Given the description of an element on the screen output the (x, y) to click on. 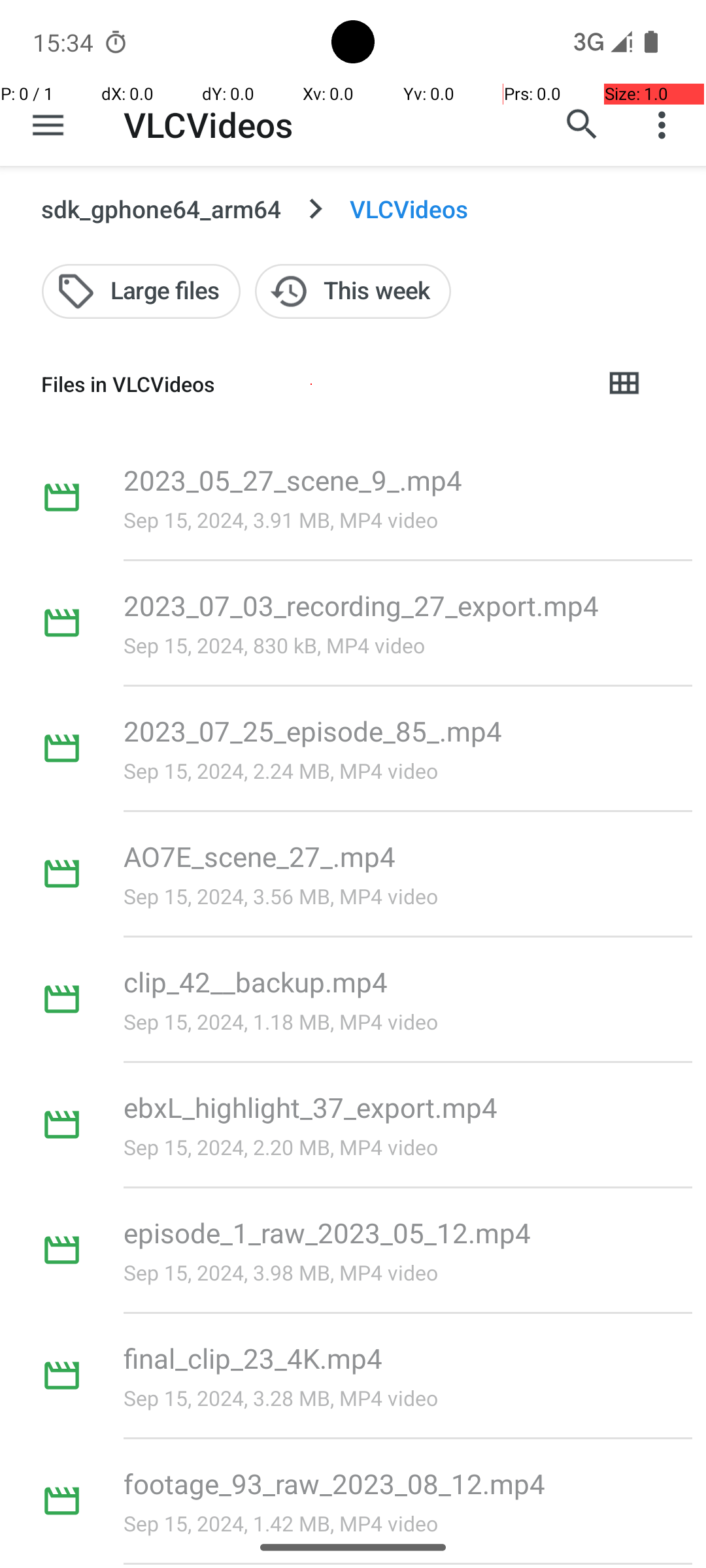
Files in VLCVideos Element type: android.widget.TextView (311, 383)
2023_05_27_scene_9_.mp4 Element type: android.widget.TextView (292, 479)
Sep 15, 2024, 3.91 MB, MP4 video Element type: android.widget.TextView (280, 519)
2023_07_03_recording_27_export.mp4 Element type: android.widget.TextView (361, 604)
Sep 15, 2024, 830 kB, MP4 video Element type: android.widget.TextView (273, 645)
2023_07_25_episode_85_.mp4 Element type: android.widget.TextView (312, 730)
Sep 15, 2024, 2.24 MB, MP4 video Element type: android.widget.TextView (280, 770)
AO7E_scene_27_.mp4 Element type: android.widget.TextView (259, 855)
Sep 15, 2024, 3.56 MB, MP4 video Element type: android.widget.TextView (280, 896)
clip_42__backup.mp4 Element type: android.widget.TextView (255, 981)
Sep 15, 2024, 1.18 MB, MP4 video Element type: android.widget.TextView (280, 1021)
ebxL_highlight_37_export.mp4 Element type: android.widget.TextView (310, 1106)
Sep 15, 2024, 2.20 MB, MP4 video Element type: android.widget.TextView (280, 1146)
episode_1_raw_2023_05_12.mp4 Element type: android.widget.TextView (327, 1232)
Sep 15, 2024, 3.98 MB, MP4 video Element type: android.widget.TextView (280, 1272)
final_clip_23_4K.mp4 Element type: android.widget.TextView (252, 1357)
Sep 15, 2024, 3.28 MB, MP4 video Element type: android.widget.TextView (280, 1397)
footage_93_raw_2023_08_12.mp4 Element type: android.widget.TextView (334, 1483)
Sep 15, 2024, 1.42 MB, MP4 video Element type: android.widget.TextView (280, 1523)
